Given the description of an element on the screen output the (x, y) to click on. 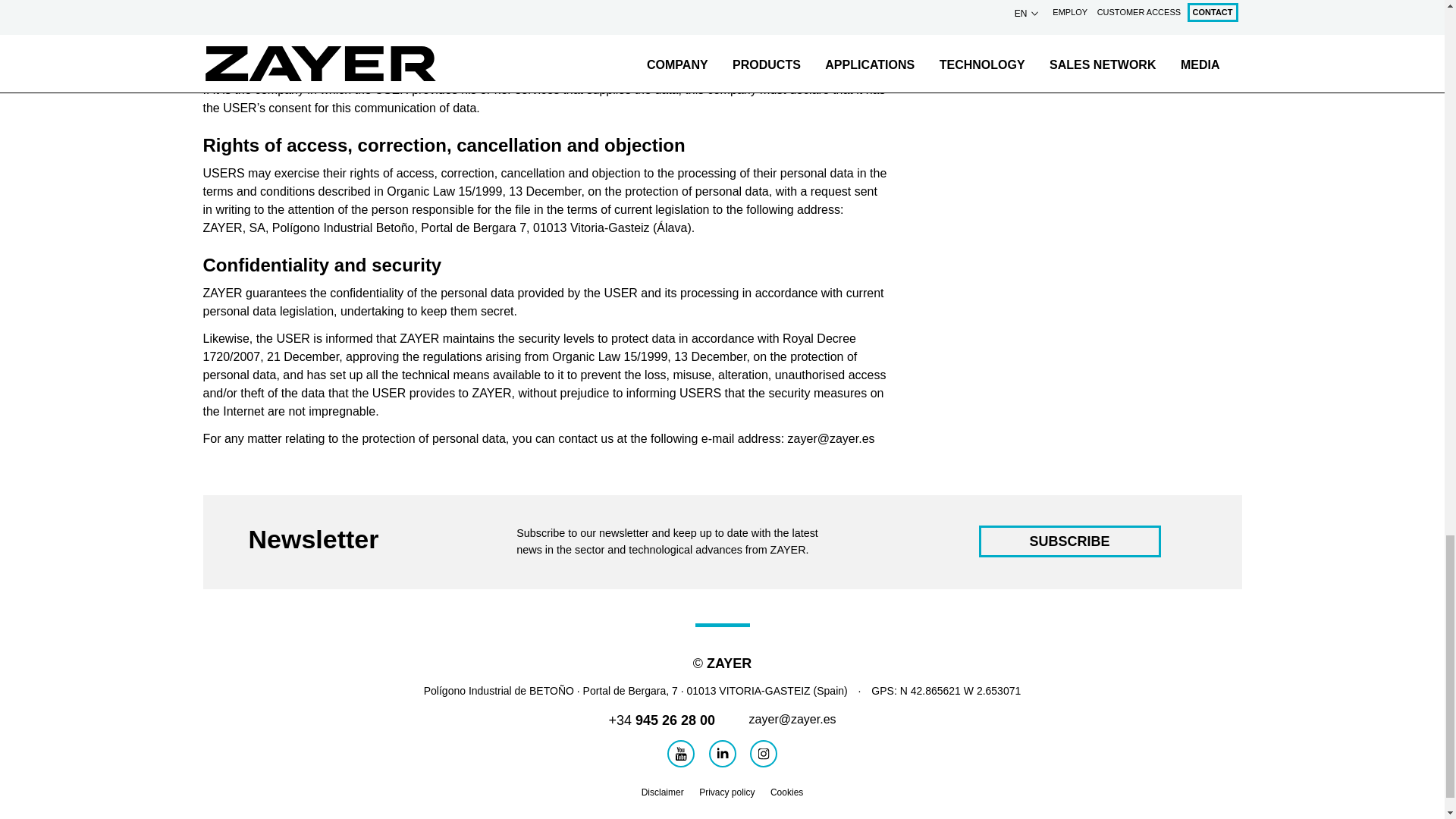
Linkedin (721, 753)
YouTube (680, 753)
Instagram (763, 753)
